Given the description of an element on the screen output the (x, y) to click on. 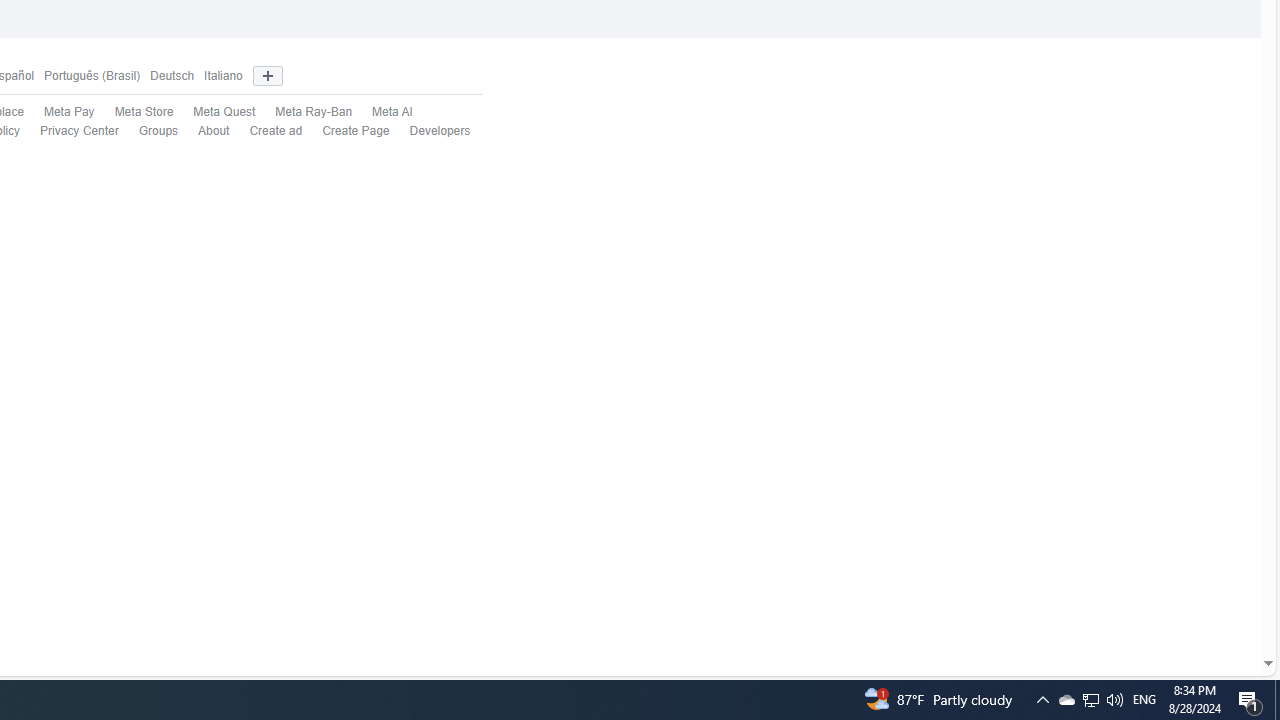
Meta Ray-Ban (314, 112)
Meta Ray-Ban (303, 112)
Create ad (276, 130)
Meta Pay (68, 112)
Developers (430, 131)
Privacy Center (79, 130)
Developers (440, 130)
Meta Store (133, 112)
Meta AI (392, 112)
Deutsch (171, 76)
Meta Quest (224, 112)
Italiano (223, 76)
Privacy Center (69, 131)
Show more languages (267, 76)
